Given the description of an element on the screen output the (x, y) to click on. 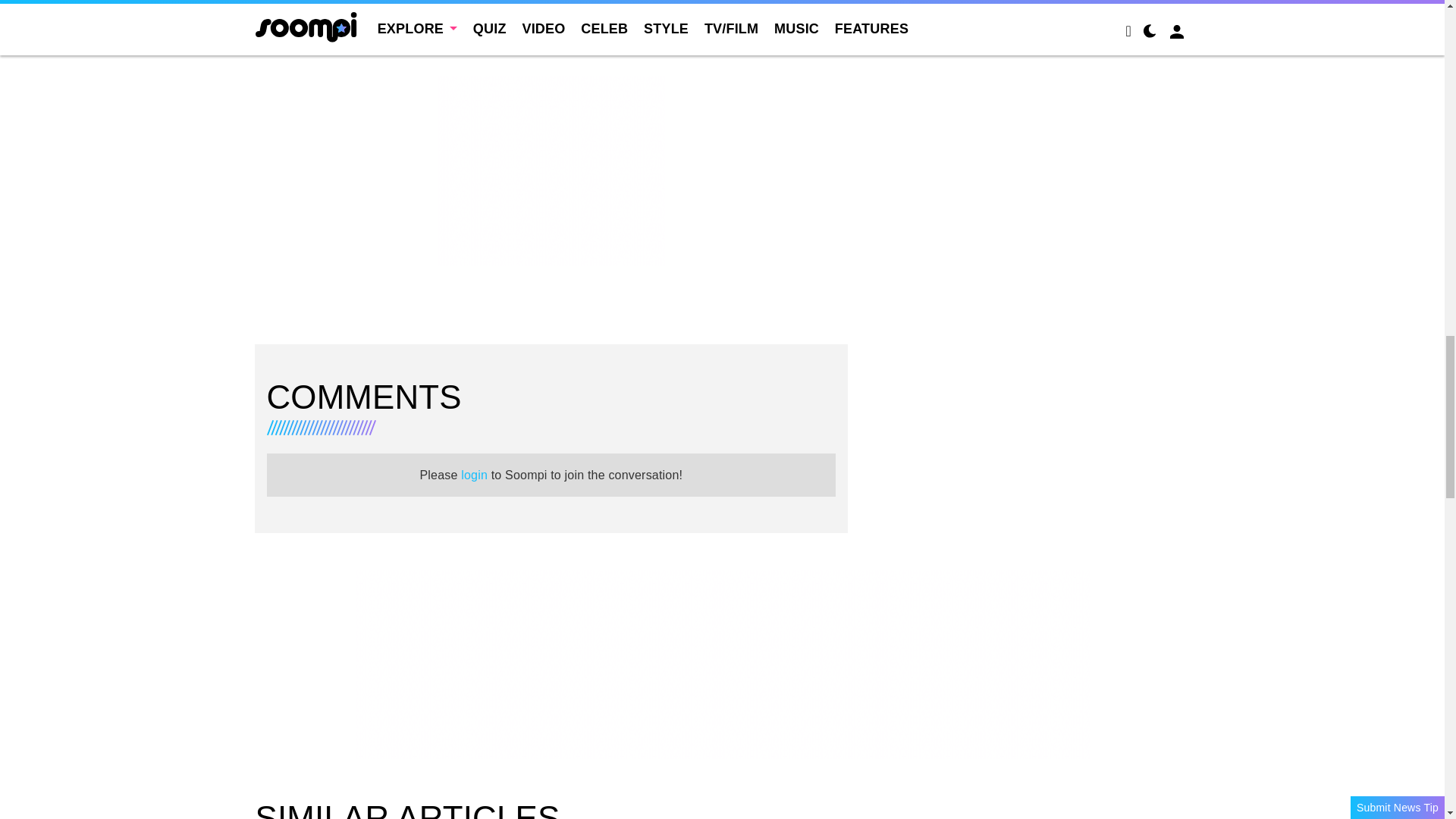
3rd party ad content (551, 170)
